Given the description of an element on the screen output the (x, y) to click on. 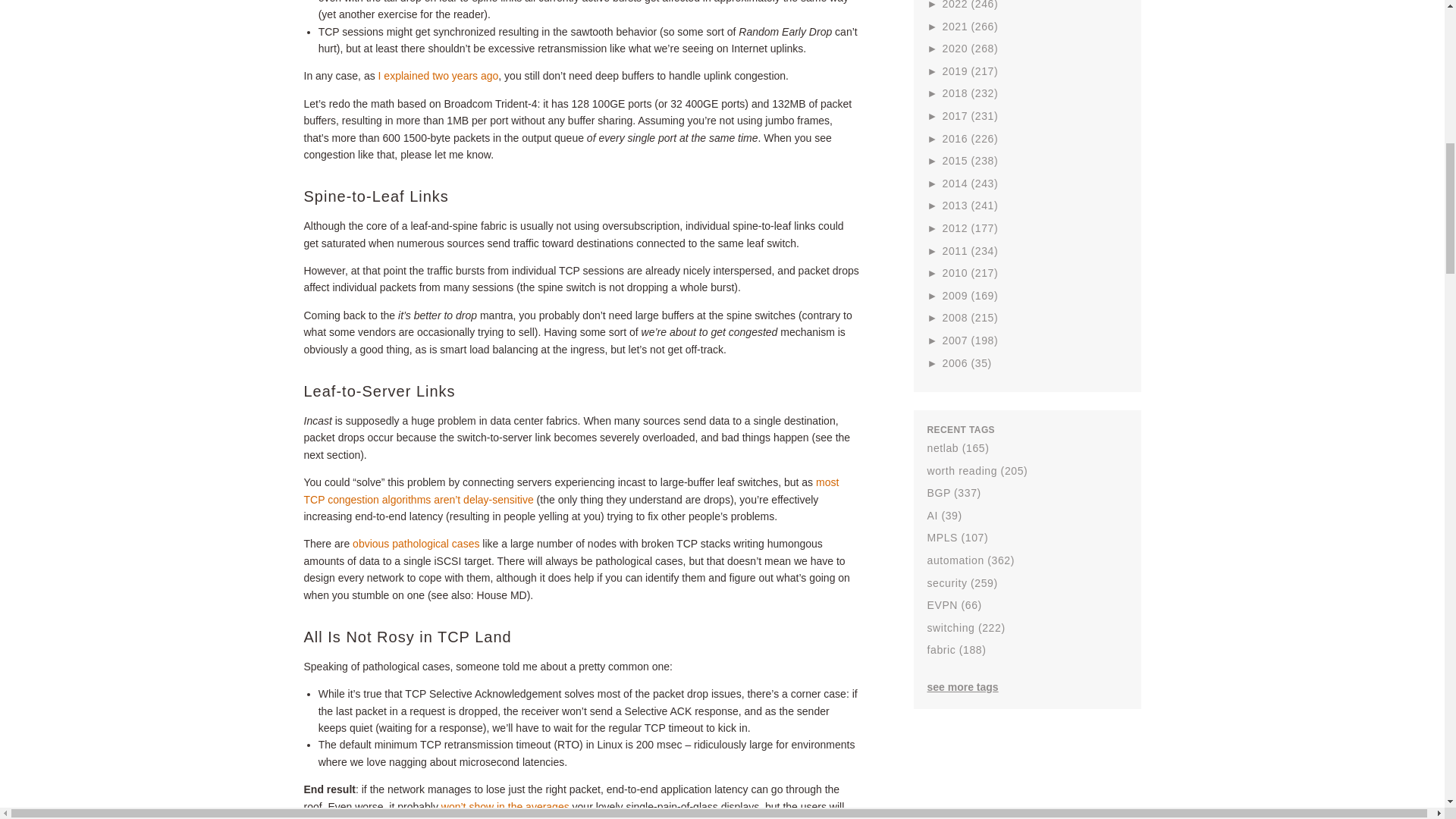
obvious pathological cases (415, 543)
I explained two years ago (438, 75)
